Given the description of an element on the screen output the (x, y) to click on. 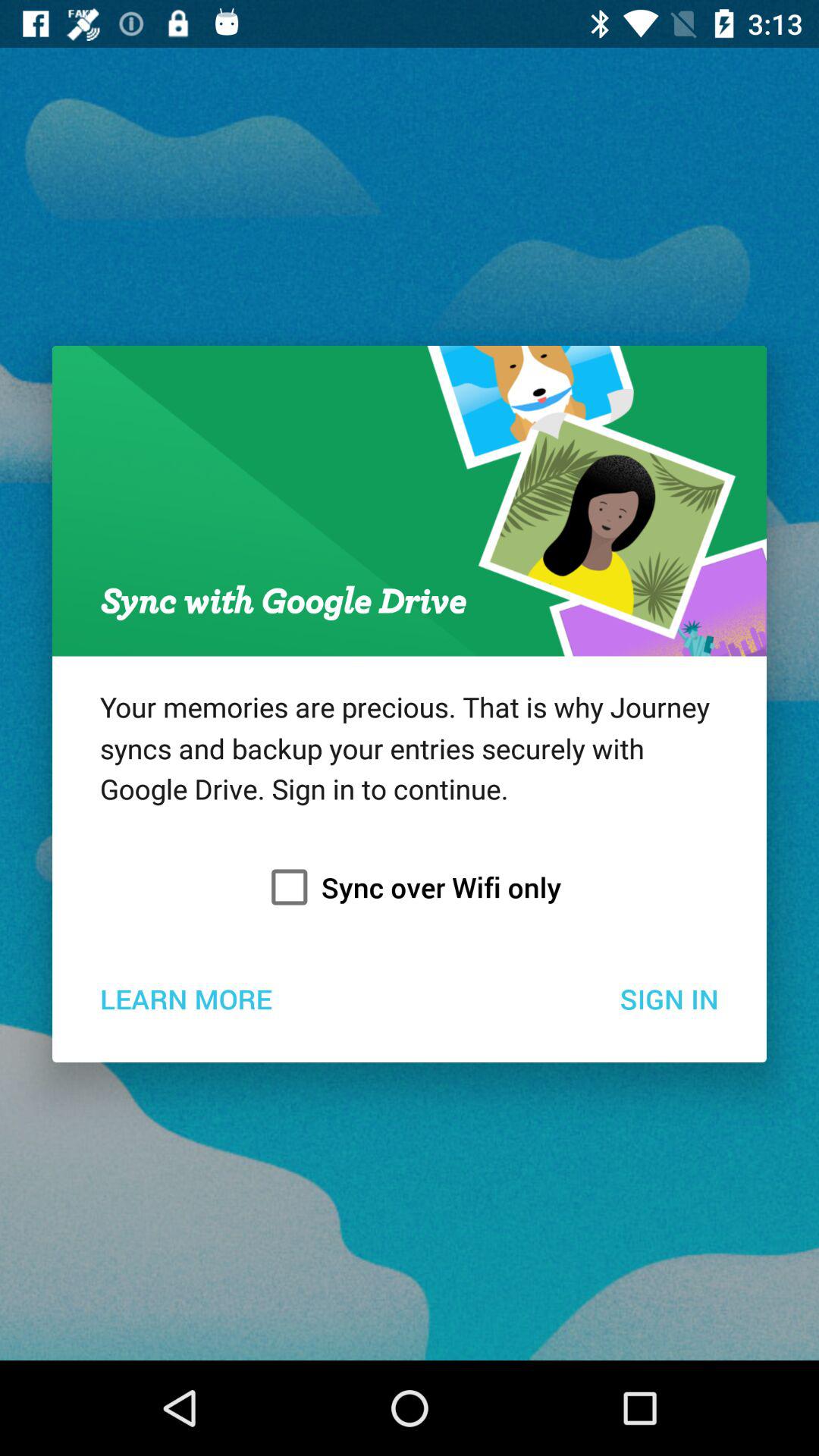
launch the item below the your memories are icon (409, 887)
